Given the description of an element on the screen output the (x, y) to click on. 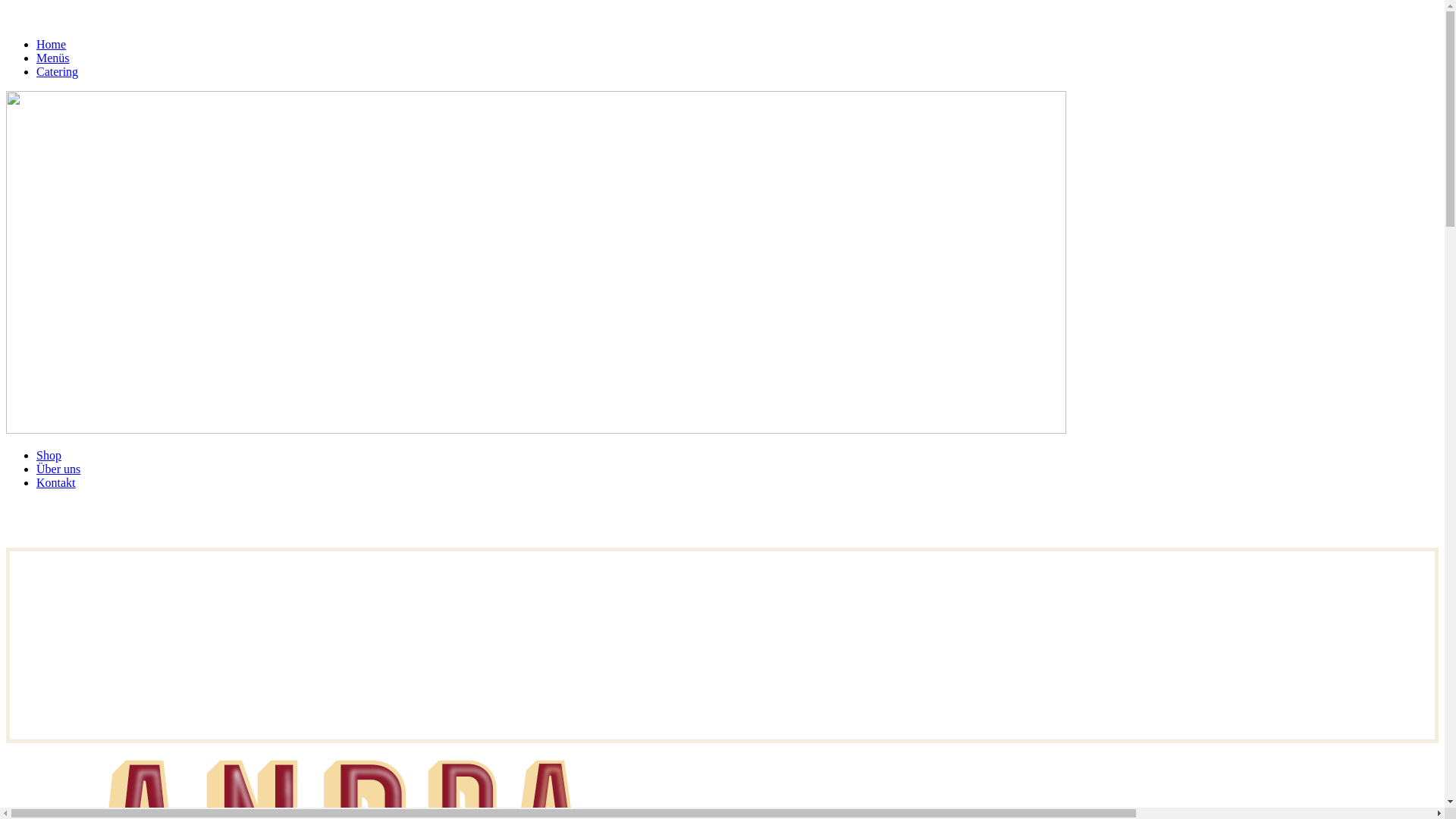
Home Element type: text (50, 43)
Kontakt Element type: text (55, 482)
Shop Element type: text (48, 454)
Catering Element type: text (57, 71)
